Given the description of an element on the screen output the (x, y) to click on. 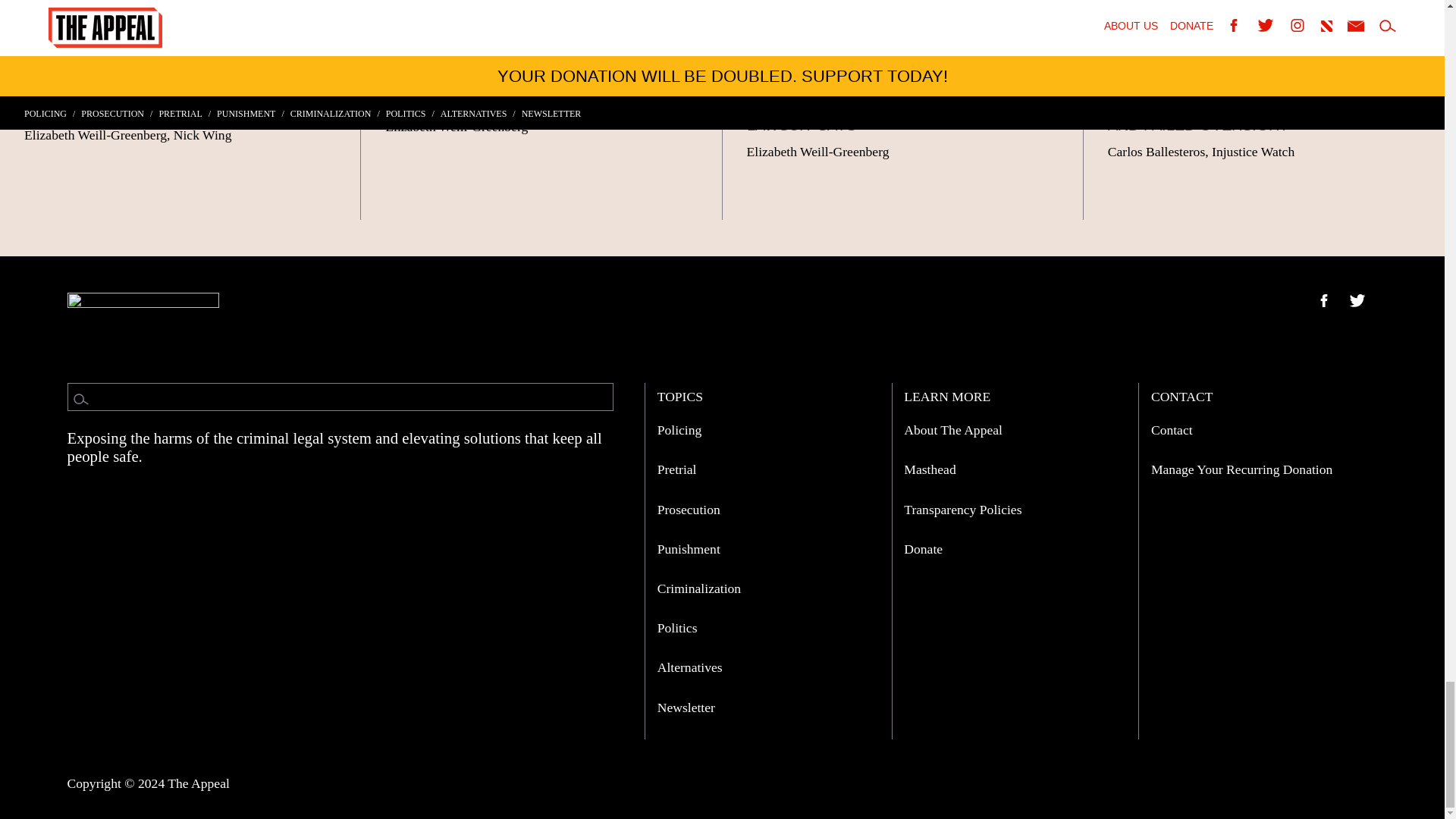
Prosecution (689, 509)
Policing (679, 429)
Pretrial (677, 468)
